Given the description of an element on the screen output the (x, y) to click on. 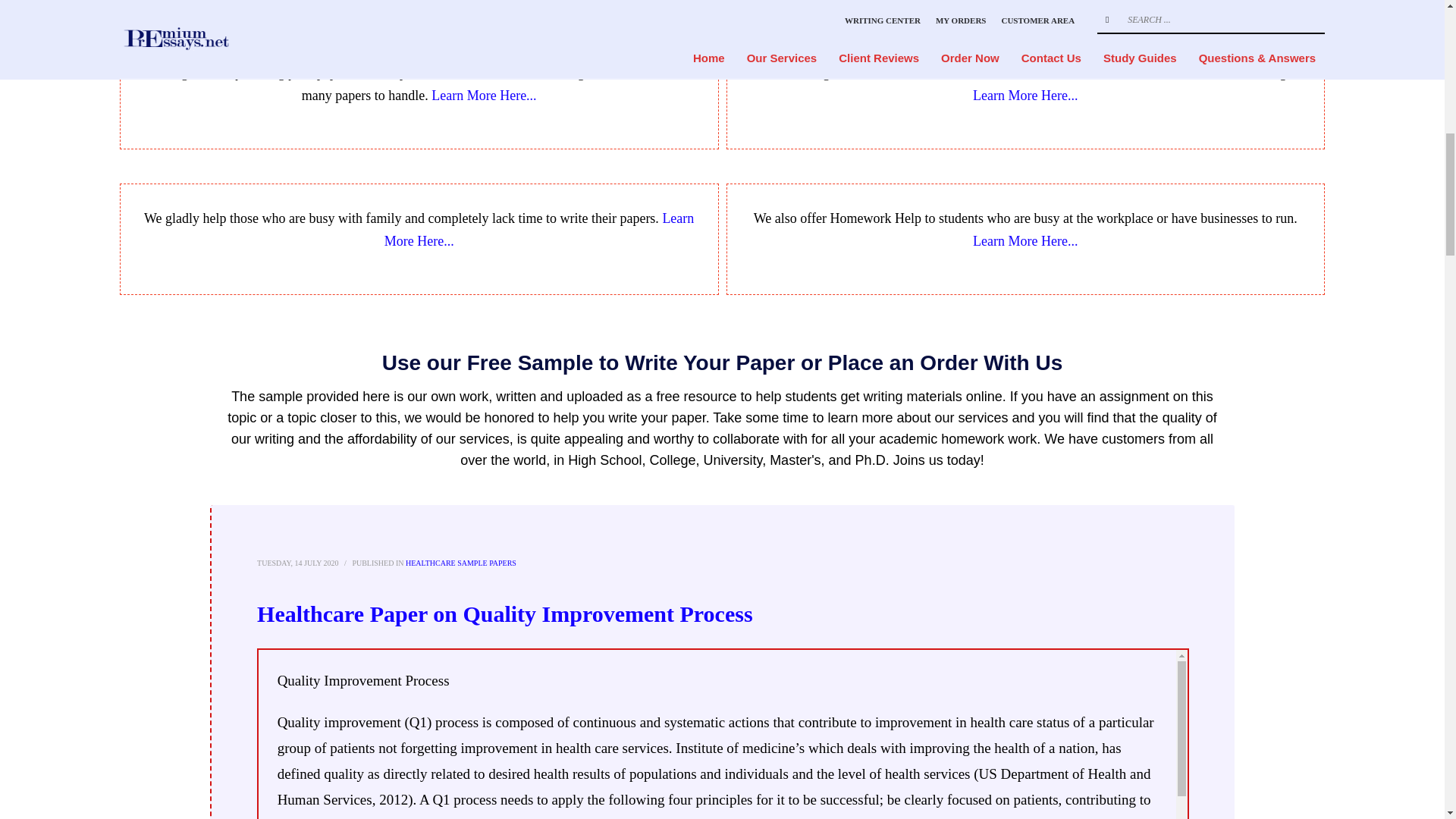
Learn More Here... (1024, 240)
HEALTHCARE SAMPLE PAPERS (461, 562)
Learn More Here... (1024, 95)
Learn More Here... (539, 229)
Learn More Here... (482, 95)
